Given the description of an element on the screen output the (x, y) to click on. 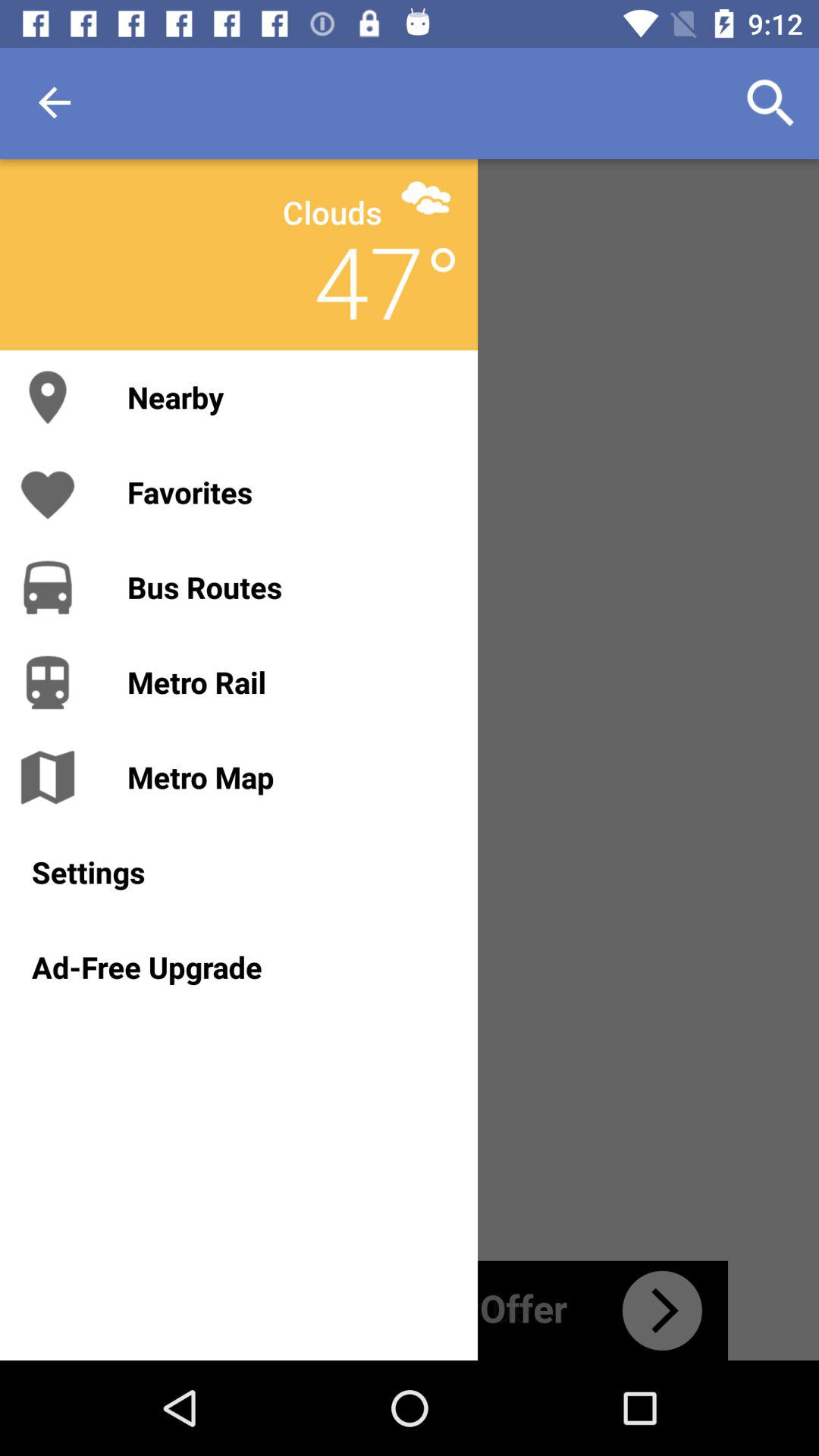
launch advertisement (409, 1310)
